Given the description of an element on the screen output the (x, y) to click on. 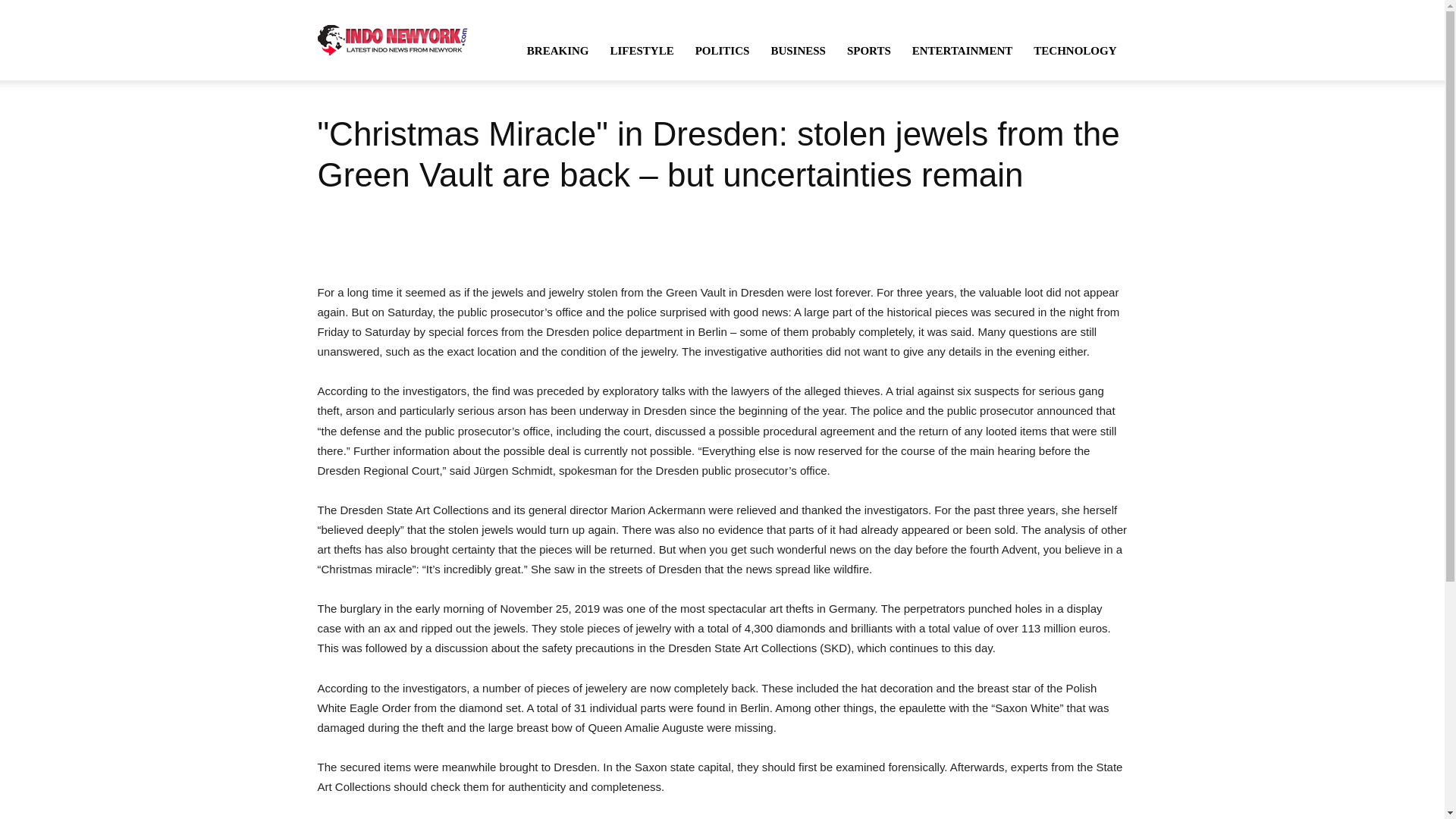
SPORTS (868, 50)
BREAKING (557, 50)
ENTERTAINMENT (962, 50)
BUSINESS (797, 50)
Indo Newyork (392, 39)
TECHNOLOGY (1074, 50)
LIFESTYLE (641, 50)
POLITICS (722, 50)
